Given the description of an element on the screen output the (x, y) to click on. 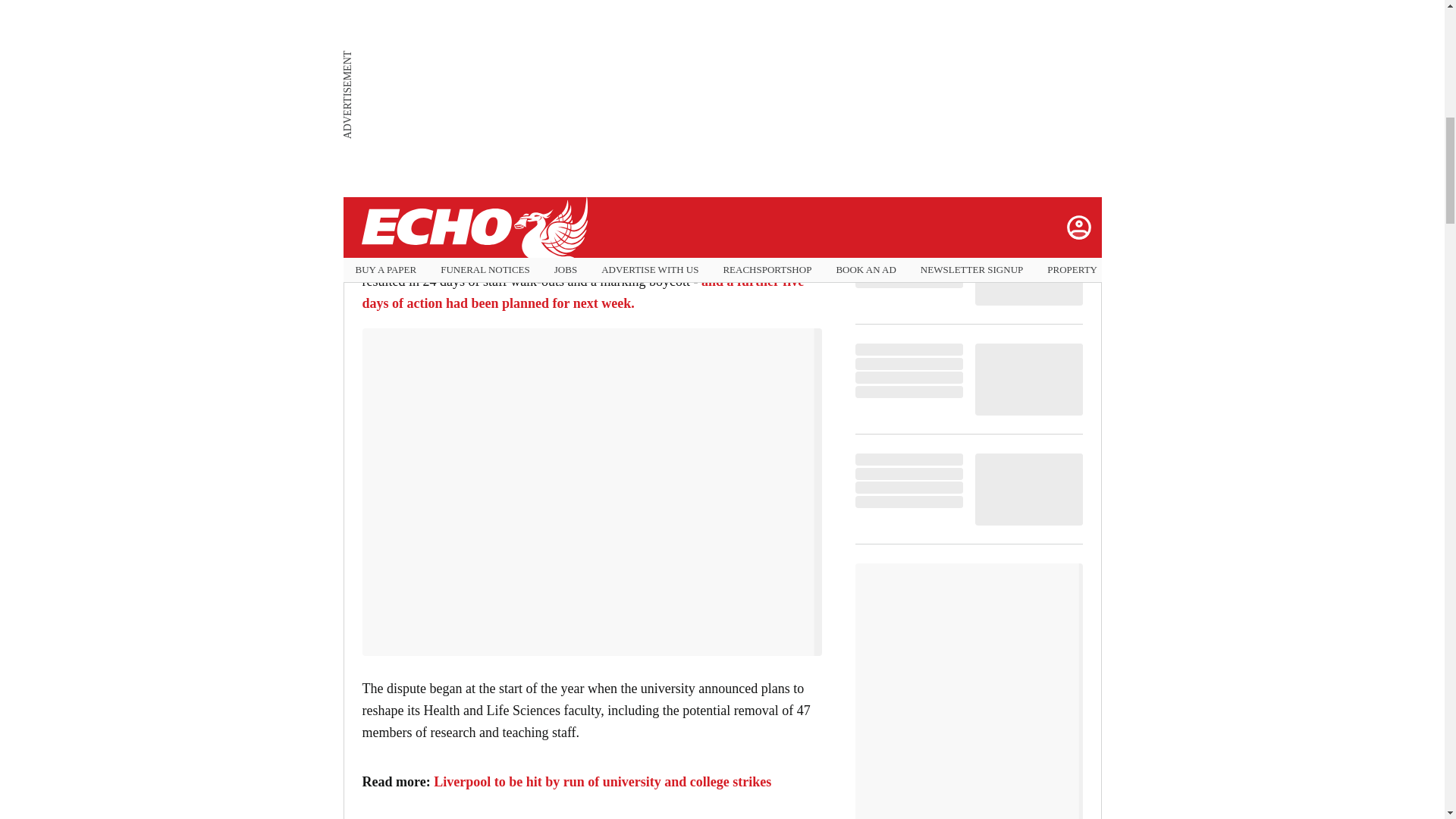
Liverpool to be hit by run of university and college strikes (602, 781)
